Given the description of an element on the screen output the (x, y) to click on. 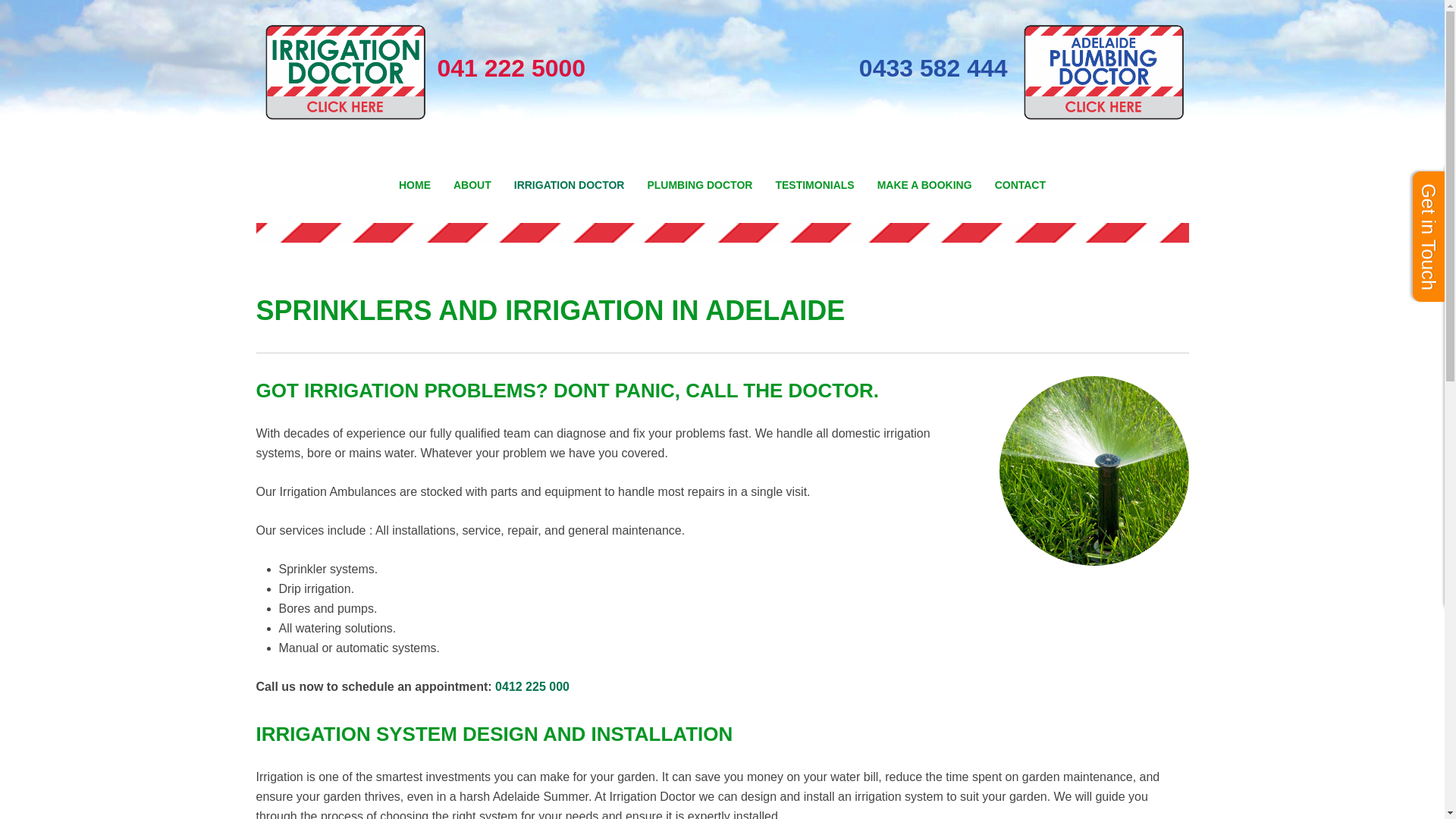
0433 582 444 Element type: text (936, 71)
PLUMBING DOCTOR Element type: text (699, 184)
0412 225 000 Element type: text (532, 686)
MAKE A BOOKING Element type: text (924, 184)
CONTACT Element type: text (1020, 184)
TESTIMONIALS Element type: text (814, 184)
041 222 5000 Element type: text (421, 71)
ABOUT Element type: text (472, 184)
IRRIGATION DOCTOR Element type: text (569, 184)
HOME Element type: text (414, 184)
